Given the description of an element on the screen output the (x, y) to click on. 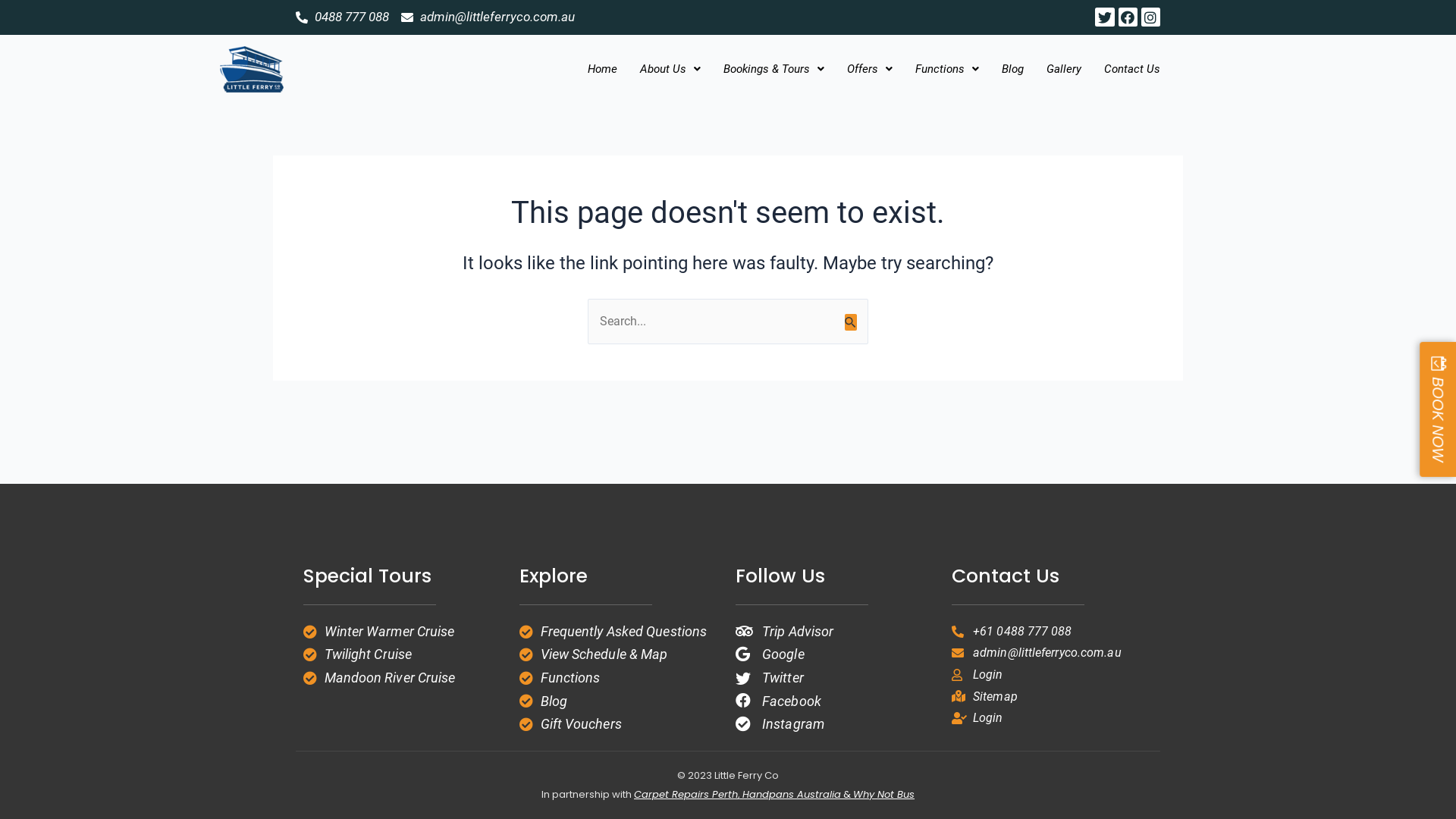
Twitter Element type: text (1104, 16)
Bookings & Tours Element type: text (772, 69)
Frequently Asked Questions Element type: text (619, 631)
Facebook Element type: text (1127, 16)
0488 777 088 Element type: text (342, 17)
Login Element type: text (1051, 674)
Carpet Repairs Perth Element type: text (685, 794)
Contact Us Element type: text (1131, 69)
Instagram Element type: text (835, 724)
Login Element type: text (1051, 718)
Gallery Element type: text (1063, 69)
admin@littleferryco.com.au Element type: text (487, 17)
Home Element type: text (602, 69)
About Us Element type: text (669, 69)
Blog Element type: text (619, 701)
Blog Element type: text (1012, 69)
Gift Vouchers Element type: text (619, 724)
Functions Element type: text (619, 677)
View Schedule & Map Element type: text (619, 654)
+61 0488 777 088 Element type: text (1051, 631)
Twitter Element type: text (835, 677)
Mandoon River Cruise Element type: text (403, 677)
Instagram Element type: text (1150, 16)
Handpans Australia Element type: text (791, 794)
Twilight Cruise Element type: text (403, 654)
Offers Element type: text (869, 69)
Google Element type: text (835, 654)
admin@littleferryco.com.au Element type: text (1051, 652)
Functions Element type: text (946, 69)
Why Not Bus Element type: text (883, 794)
Winter Warmer Cruise Element type: text (403, 631)
Sitemap Element type: text (1051, 696)
Facebook Element type: text (835, 701)
Trip Advisor Element type: text (835, 631)
Search Element type: text (851, 314)
